Given the description of an element on the screen output the (x, y) to click on. 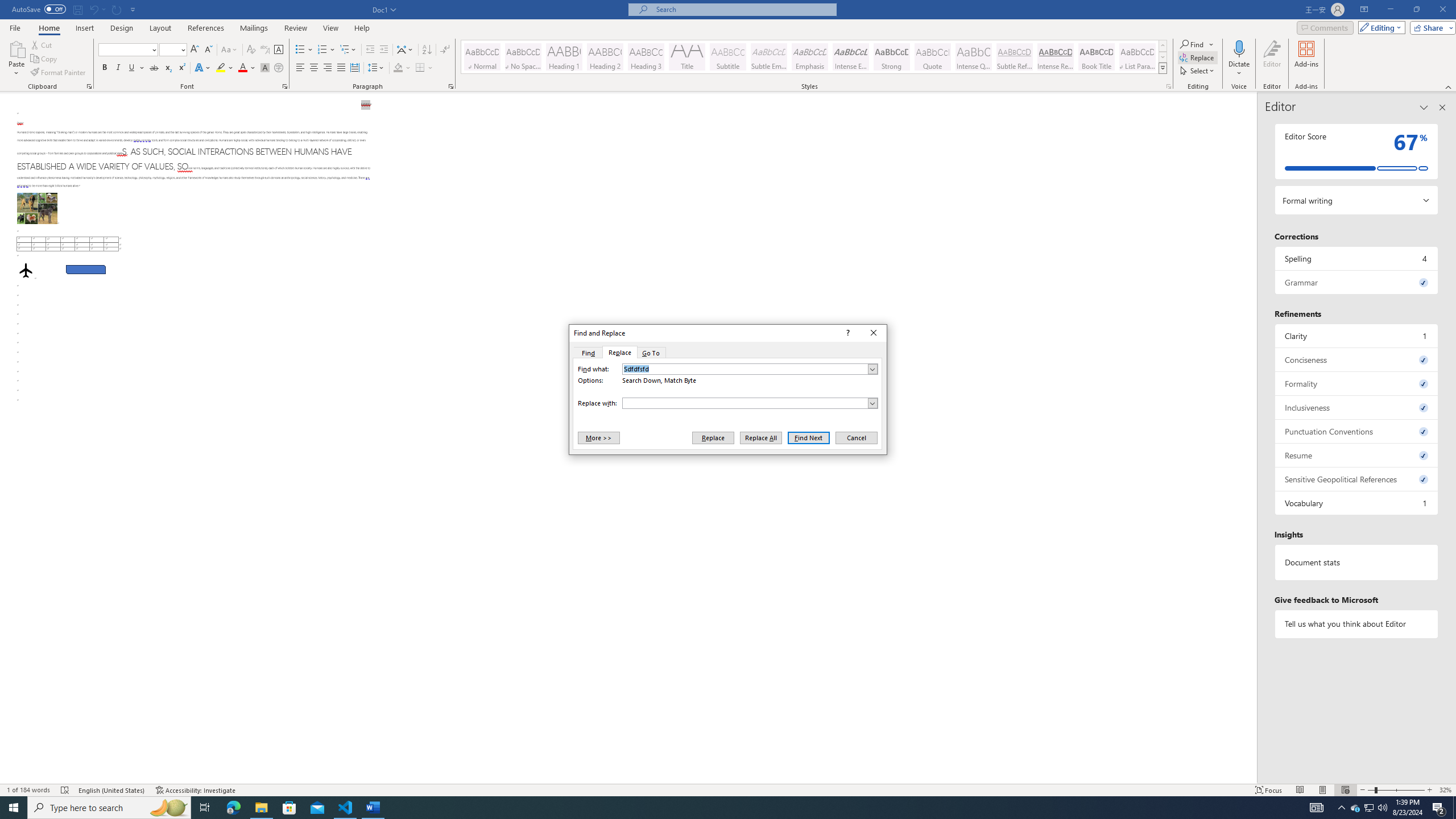
Tell us what you think about Editor (1356, 624)
Grammar, 0 issues. Press space or enter to review items. (1356, 282)
More >> (598, 437)
Quote (932, 56)
